Given the description of an element on the screen output the (x, y) to click on. 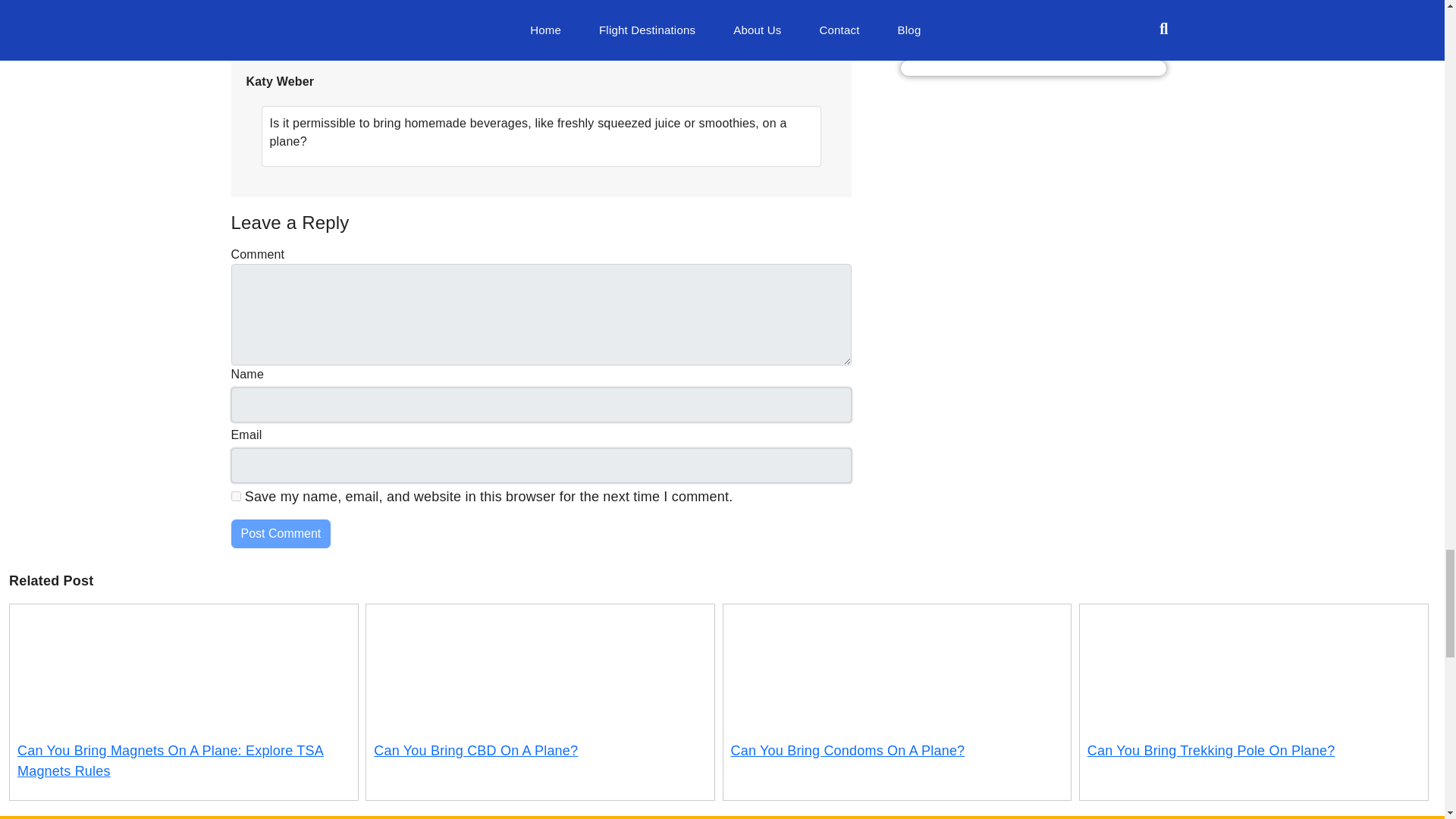
Post Comment (280, 533)
Can You Bring Condoms On A Plane? (847, 750)
Can You Bring Magnets On A Plane: Explore TSA Magnets Rules (170, 760)
Can You Bring CBD On A Plane? (476, 750)
yes (235, 496)
Can You Bring Trekking Pole On Plane? (1211, 750)
